Given the description of an element on the screen output the (x, y) to click on. 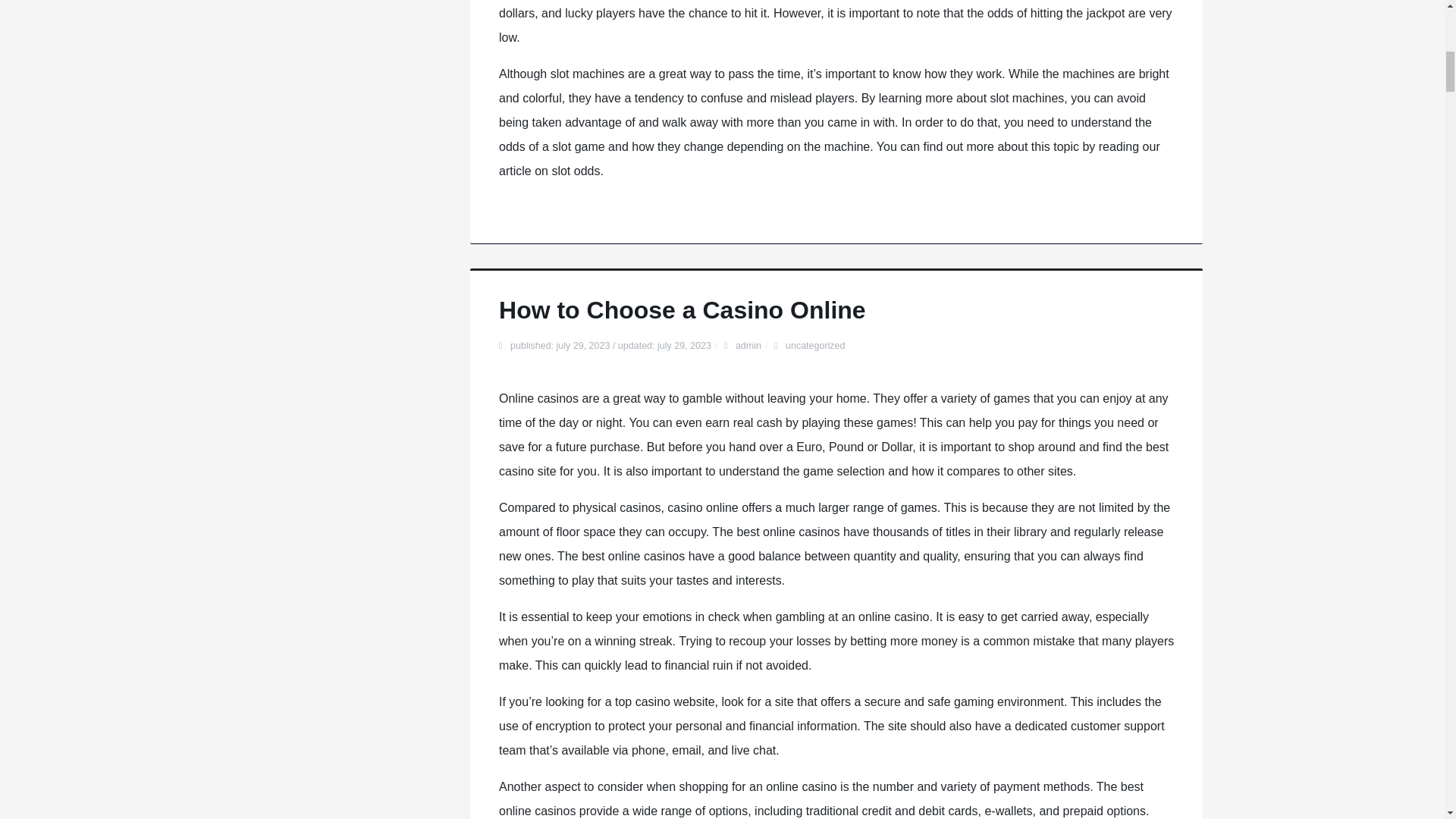
admin (748, 345)
uncategorized (815, 345)
How to Choose a Casino Online (682, 309)
